Given the description of an element on the screen output the (x, y) to click on. 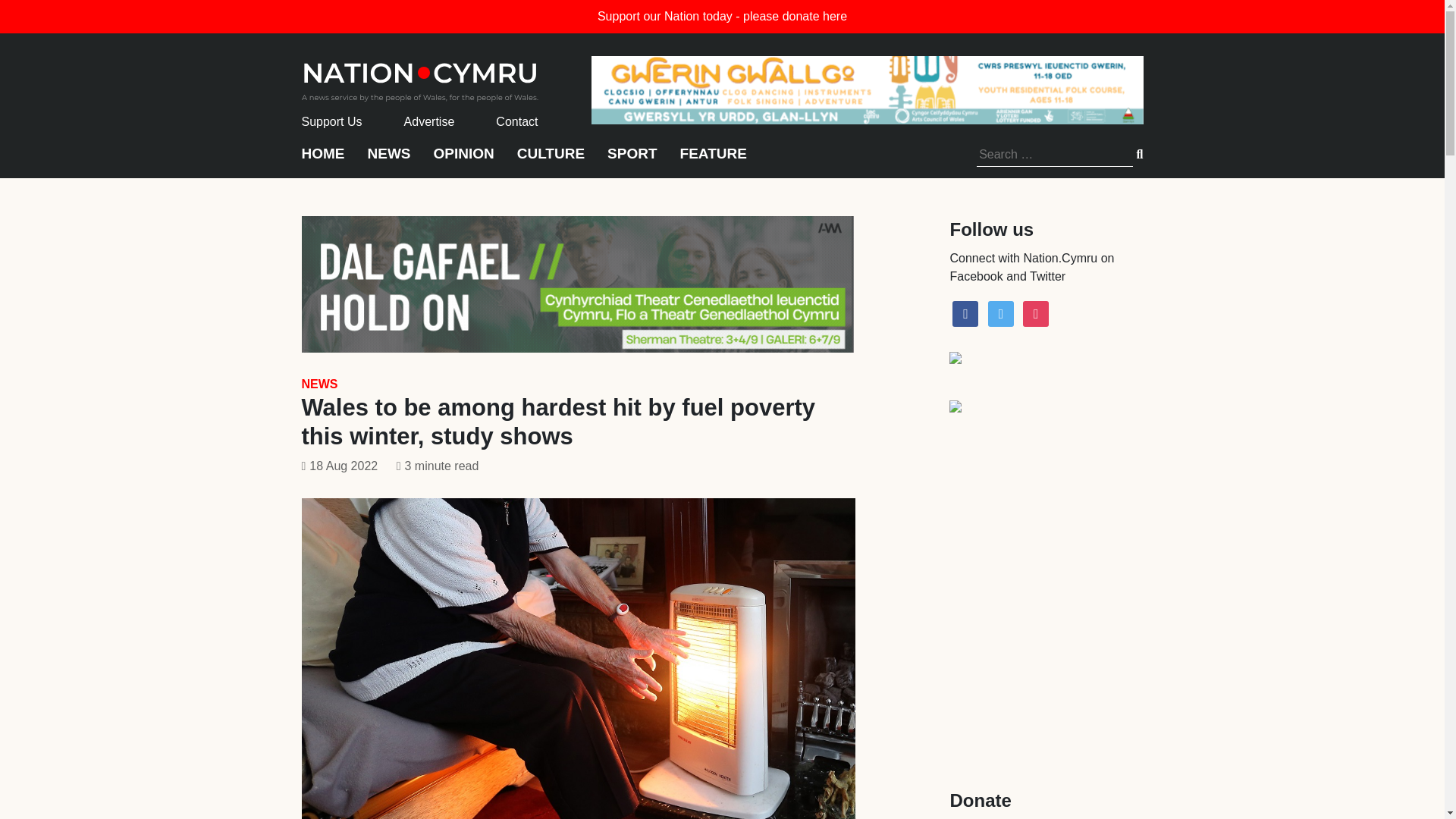
home (419, 77)
Contact (516, 121)
Support Us (331, 121)
NEWS (388, 160)
OPINION (464, 160)
HOME (323, 160)
FEATURE (712, 160)
Advertise (429, 121)
CULTURE (550, 160)
NEWS (319, 383)
